Given the description of an element on the screen output the (x, y) to click on. 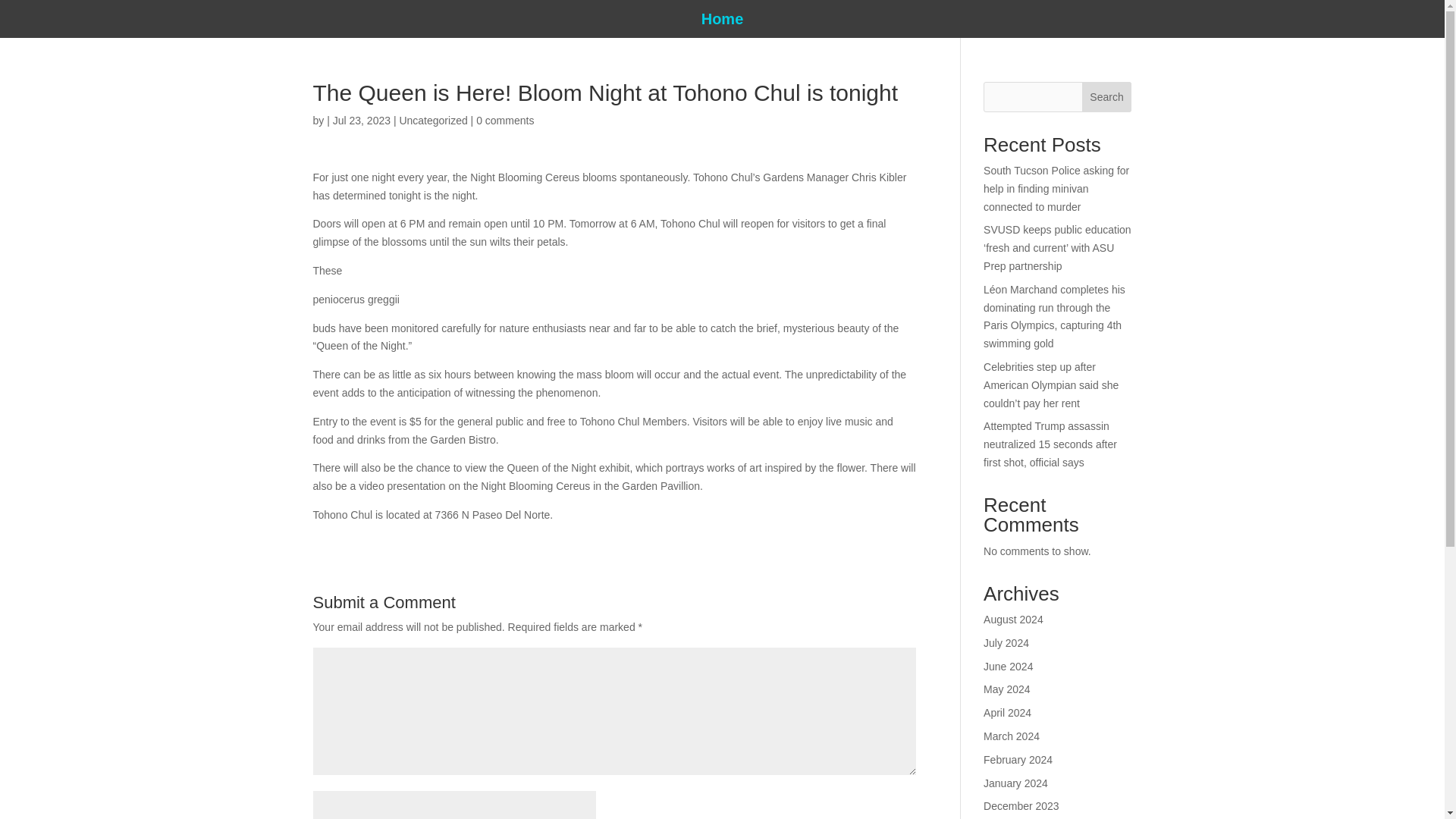
0 comments (505, 120)
Search (1106, 96)
June 2024 (1008, 666)
December 2023 (1021, 806)
Home (722, 21)
Uncategorized (432, 120)
July 2024 (1006, 643)
May 2024 (1006, 689)
April 2024 (1007, 712)
August 2024 (1013, 619)
March 2024 (1011, 736)
January 2024 (1016, 783)
February 2024 (1018, 759)
